Given the description of an element on the screen output the (x, y) to click on. 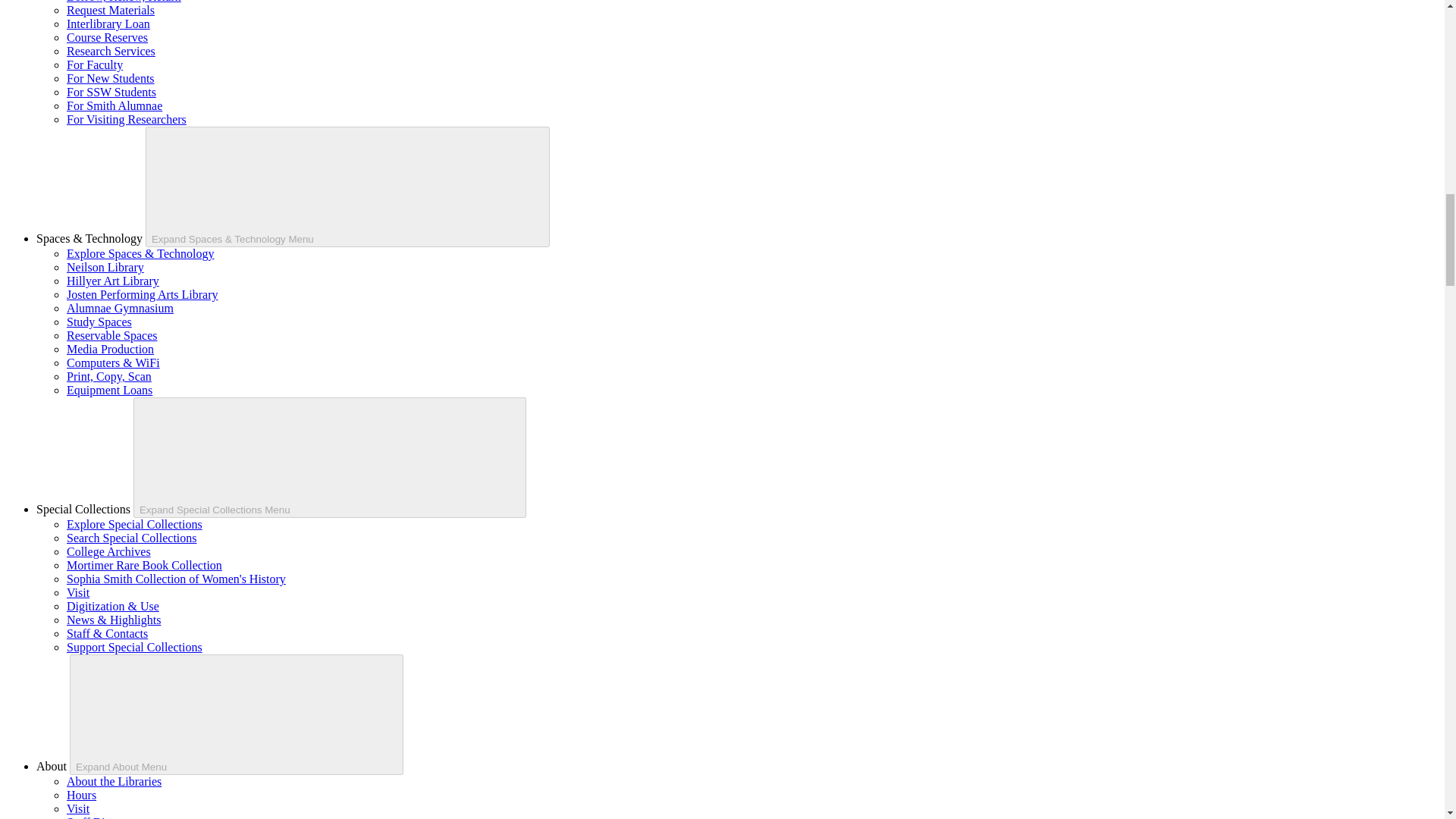
Course Reserves (107, 37)
For SSW Students (110, 91)
Research Services (110, 51)
For New Students (110, 78)
For Faculty (94, 64)
Request Materials (110, 10)
Borrow, Renew, Return (123, 1)
Interlibrary Loan (107, 23)
